Given the description of an element on the screen output the (x, y) to click on. 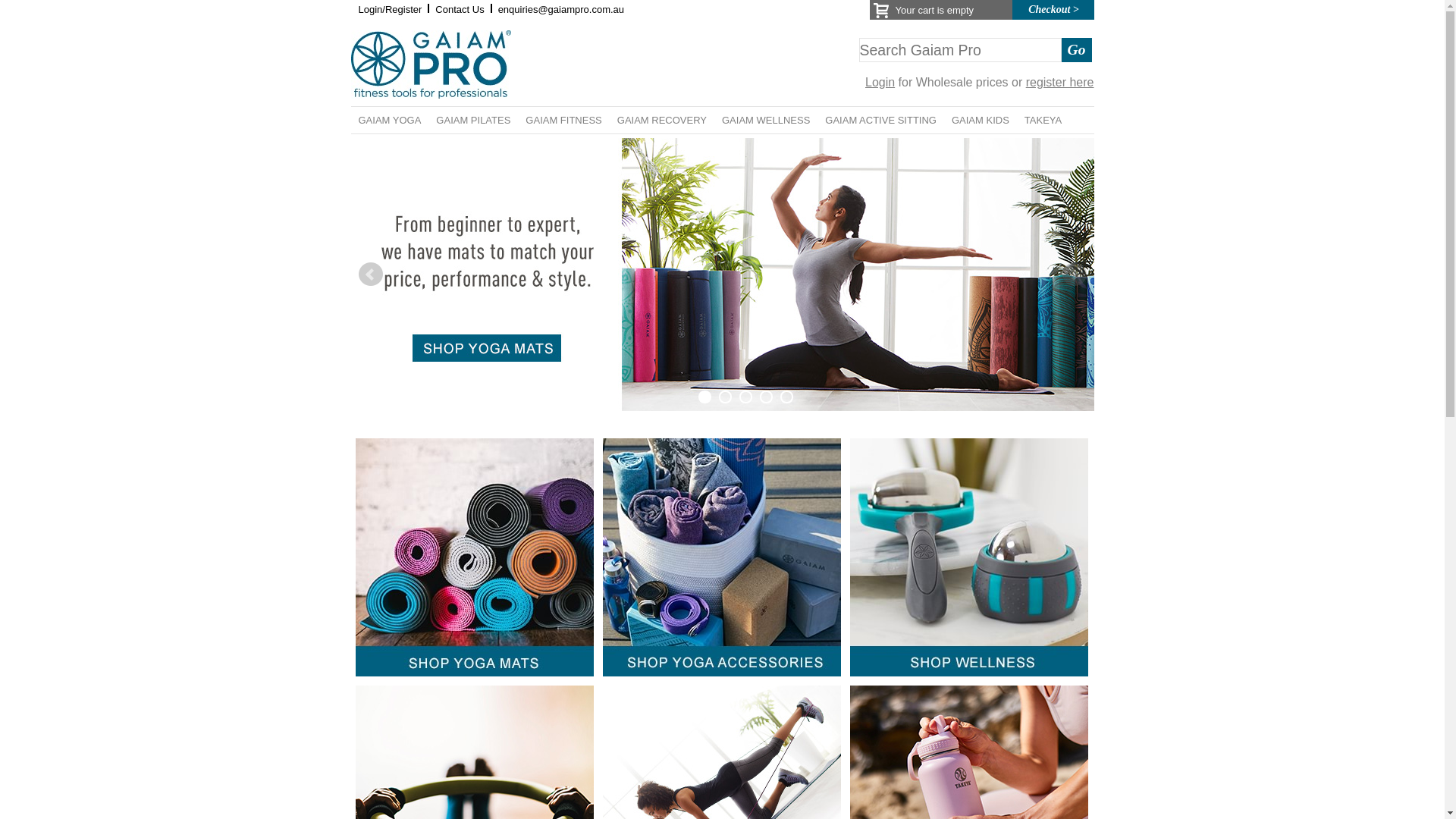
4 Element type: text (765, 396)
Login/Register Element type: text (389, 9)
2 Element type: text (724, 396)
Contact Us Element type: text (459, 9)
Next Element type: text (1073, 274)
GAIAM RECOVERY Element type: text (661, 119)
GAIAM WELLNESS Element type: text (765, 119)
GAIAM ACTIVE SITTING Element type: text (880, 119)
GAIAM YOGA Element type: text (389, 119)
GAIAM PILATES Element type: text (472, 119)
Login Element type: text (879, 81)
5 Element type: text (785, 396)
GAIAM FITNESS Element type: text (562, 119)
Checkout > Element type: text (1051, 9)
TAKEYA Element type: text (1042, 119)
3 Element type: text (744, 396)
Your cart is empty Element type: text (933, 9)
1 Element type: text (703, 396)
Prev Element type: text (369, 274)
Go Element type: text (1076, 49)
GAIAM KIDS Element type: text (980, 119)
register here Element type: text (1060, 81)
